Given the description of an element on the screen output the (x, y) to click on. 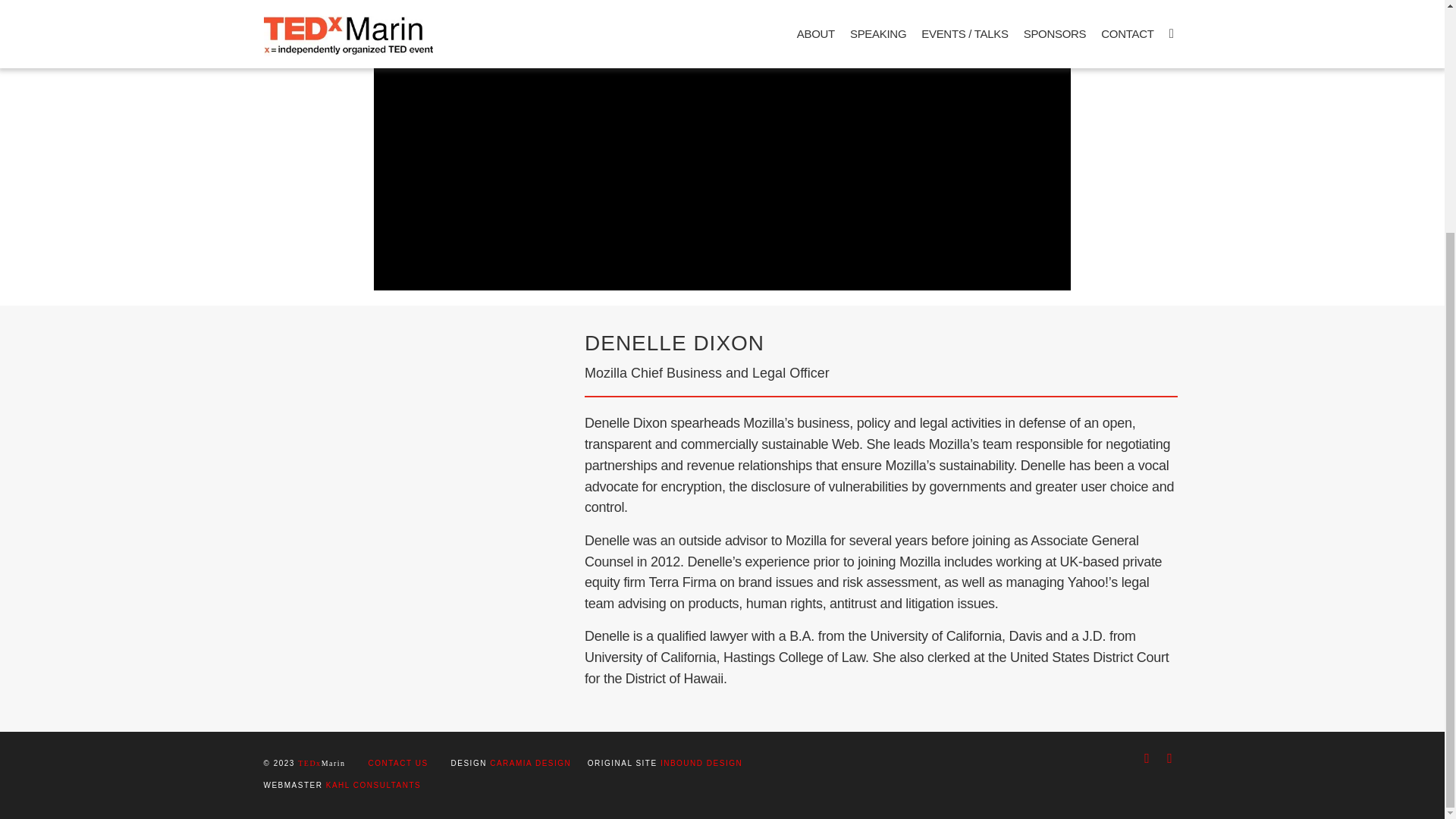
KAHL CONSULTANTS (374, 785)
Twitter (1169, 757)
INBOUND DESIGN (701, 763)
Facebook (1146, 757)
CARAMIA DESIGN (529, 763)
CONTACT US (398, 763)
